Given the description of an element on the screen output the (x, y) to click on. 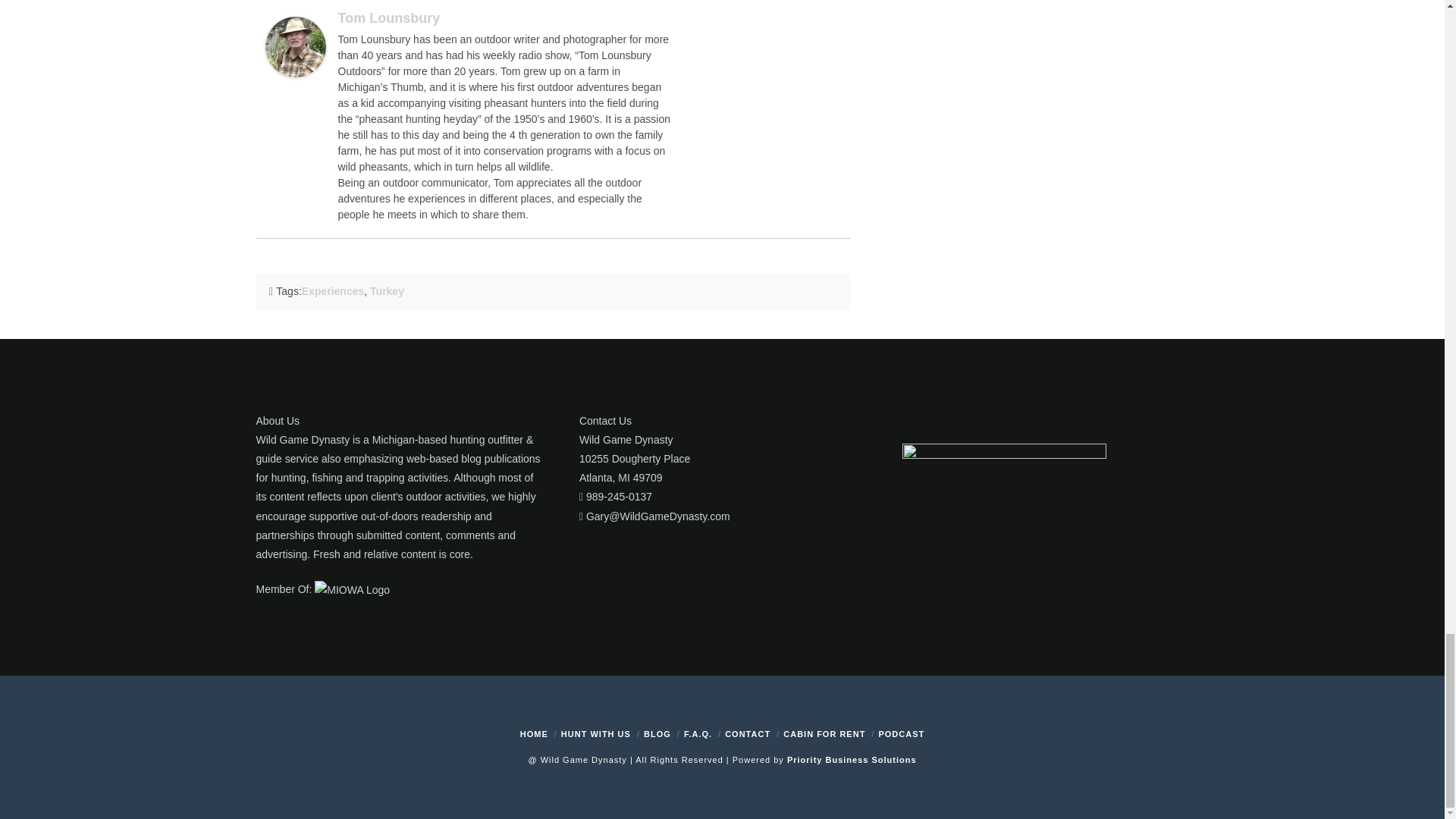
Tom Lounsbury (389, 17)
Turkey (386, 291)
Experiences (333, 291)
Tom Lounsbury (295, 46)
